Given the description of an element on the screen output the (x, y) to click on. 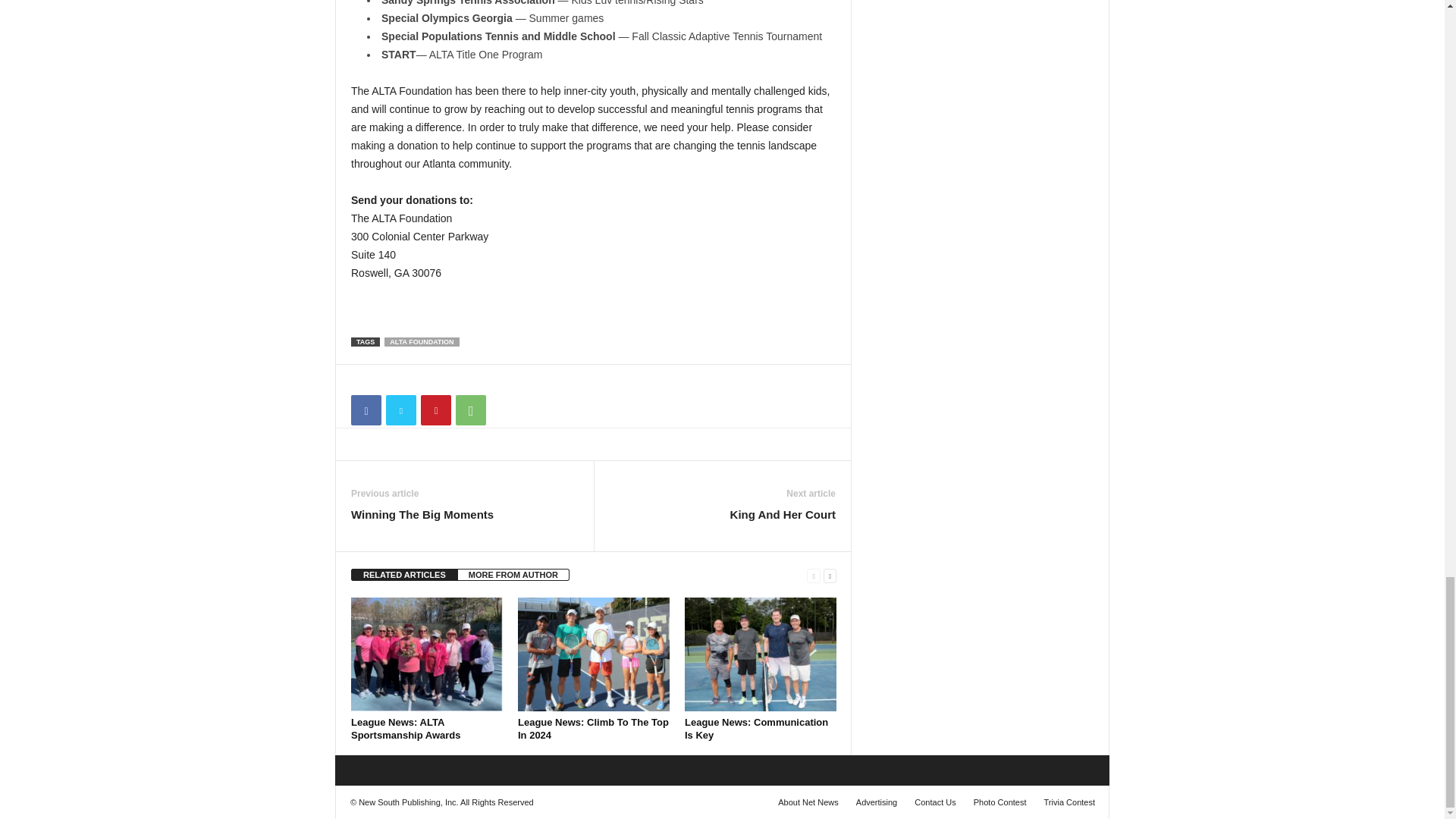
Twitter (400, 409)
Pinterest (435, 409)
Facebook (365, 409)
League News: ALTA Sportsmanship Awards (426, 654)
WhatsApp (470, 409)
